Given the description of an element on the screen output the (x, y) to click on. 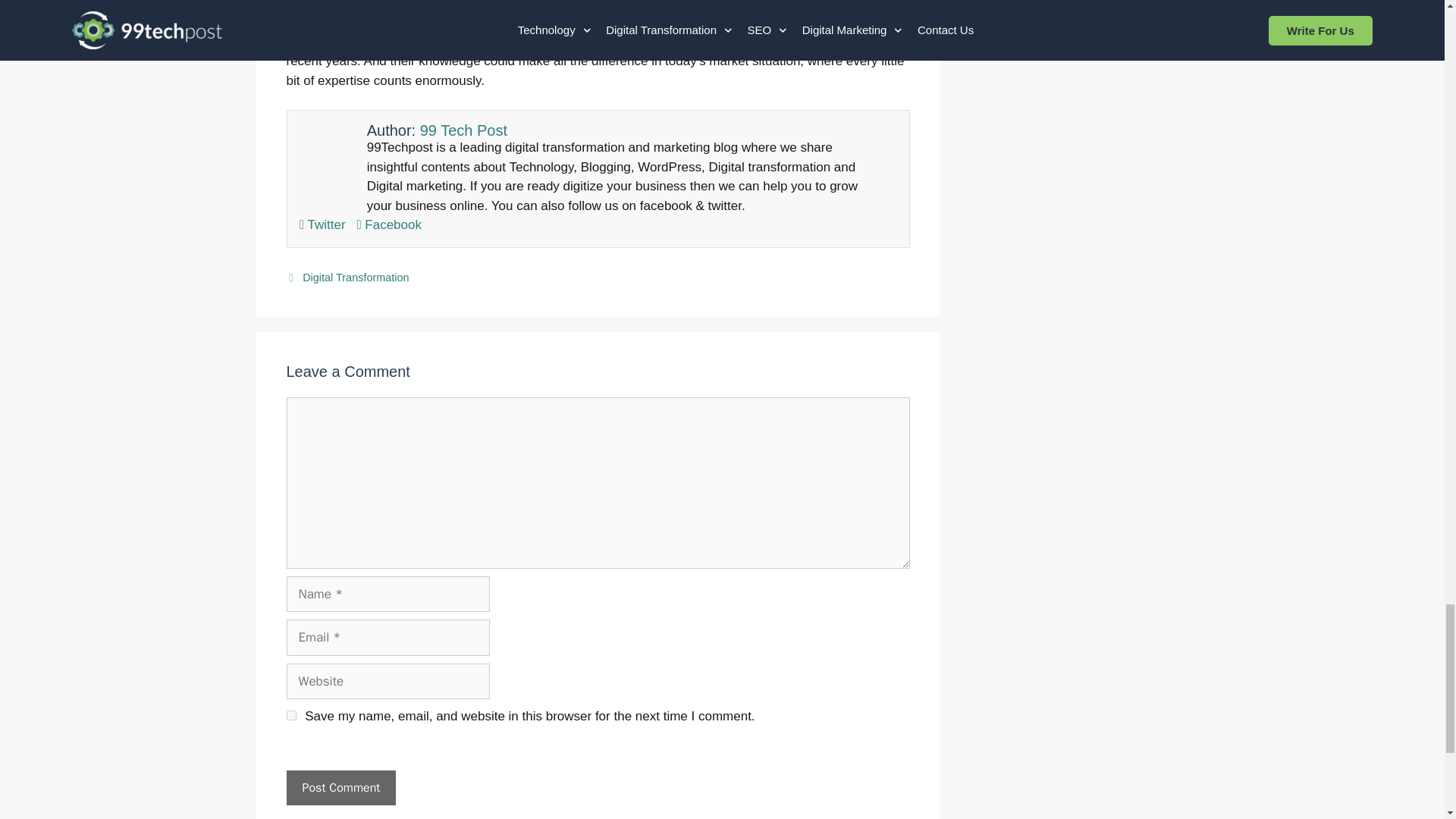
yes (291, 715)
Post Comment (341, 787)
